Given the description of an element on the screen output the (x, y) to click on. 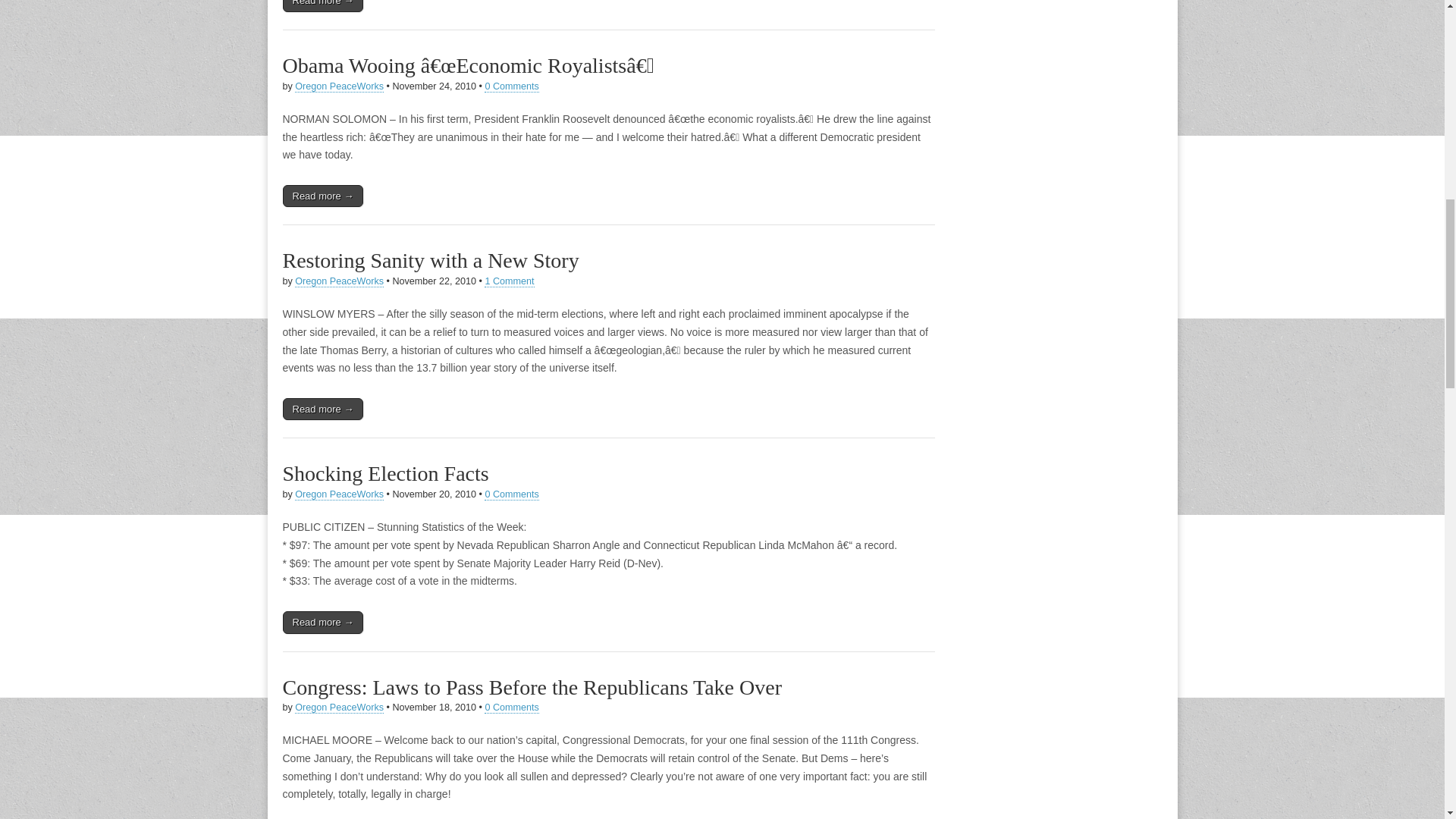
Congress: Laws to Pass Before the Republicans Take Over (531, 686)
Oregon PeaceWorks (339, 494)
Restoring Sanity with a New Story (430, 259)
Oregon PeaceWorks (339, 281)
Shocking Election Facts (384, 473)
Posts by Oregon PeaceWorks (339, 707)
Posts by Oregon PeaceWorks (339, 494)
Oregon PeaceWorks (339, 86)
0 Comments (511, 707)
0 Comments (511, 494)
